Given the description of an element on the screen output the (x, y) to click on. 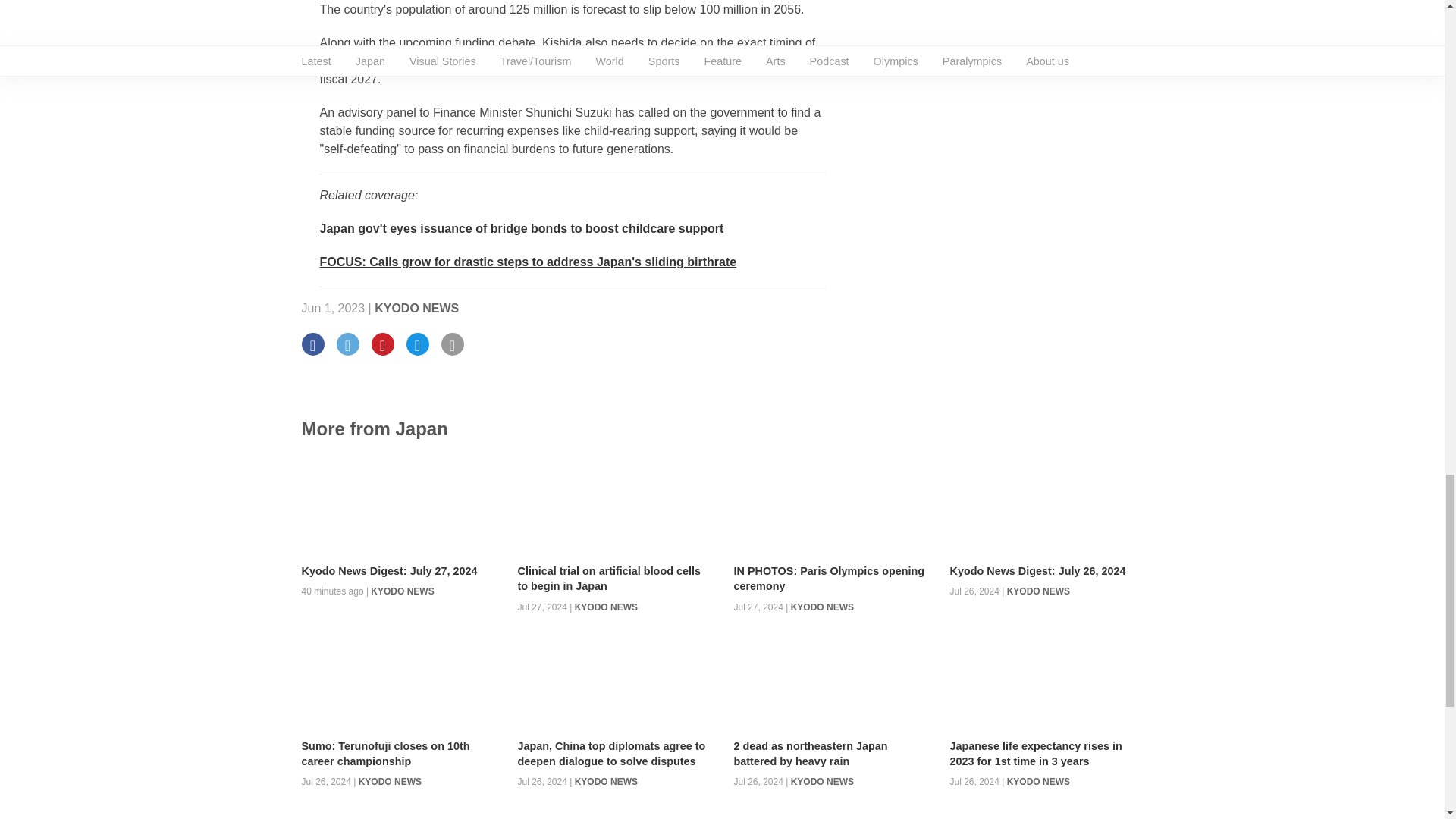
Kyodo News Plus (528, 261)
Kyodo News Plus (521, 228)
KYODO NEWS (416, 308)
